Given the description of an element on the screen output the (x, y) to click on. 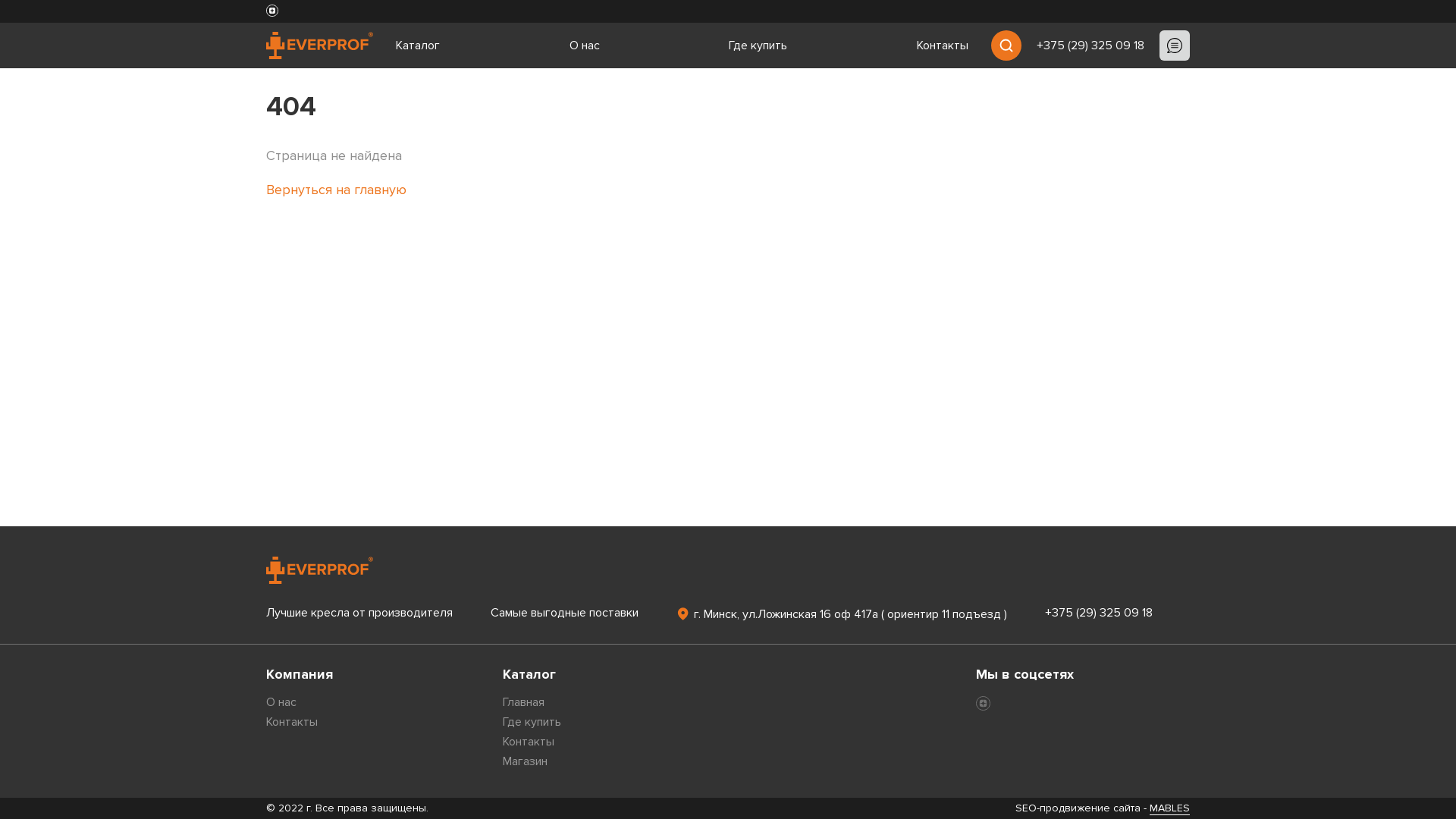
MABLES Element type: text (1169, 808)
+375 (29) 325 09 18 Element type: text (1090, 45)
+375 (29) 325 09 18 Element type: text (1117, 612)
